Given the description of an element on the screen output the (x, y) to click on. 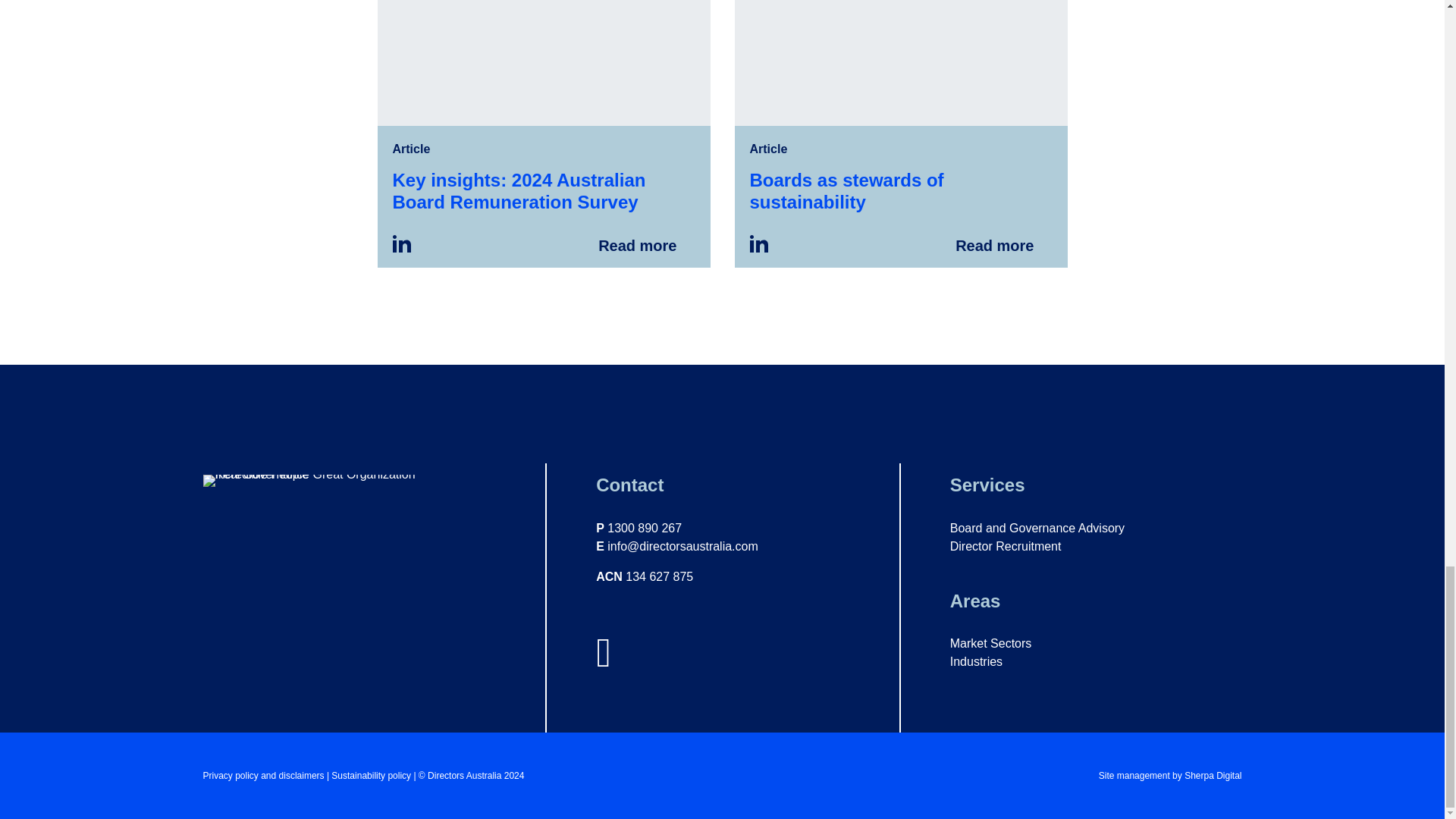
1300 890 267 (644, 527)
Sustainability policy (372, 775)
Board and Governance Advisory (1037, 527)
directors-australia-promise (335, 480)
Sherpa Digital (1213, 775)
Read more (543, 133)
Article (411, 148)
Privacy policy and disclaimers (263, 775)
Market Sectors (991, 643)
Read more (900, 133)
